Given the description of an element on the screen output the (x, y) to click on. 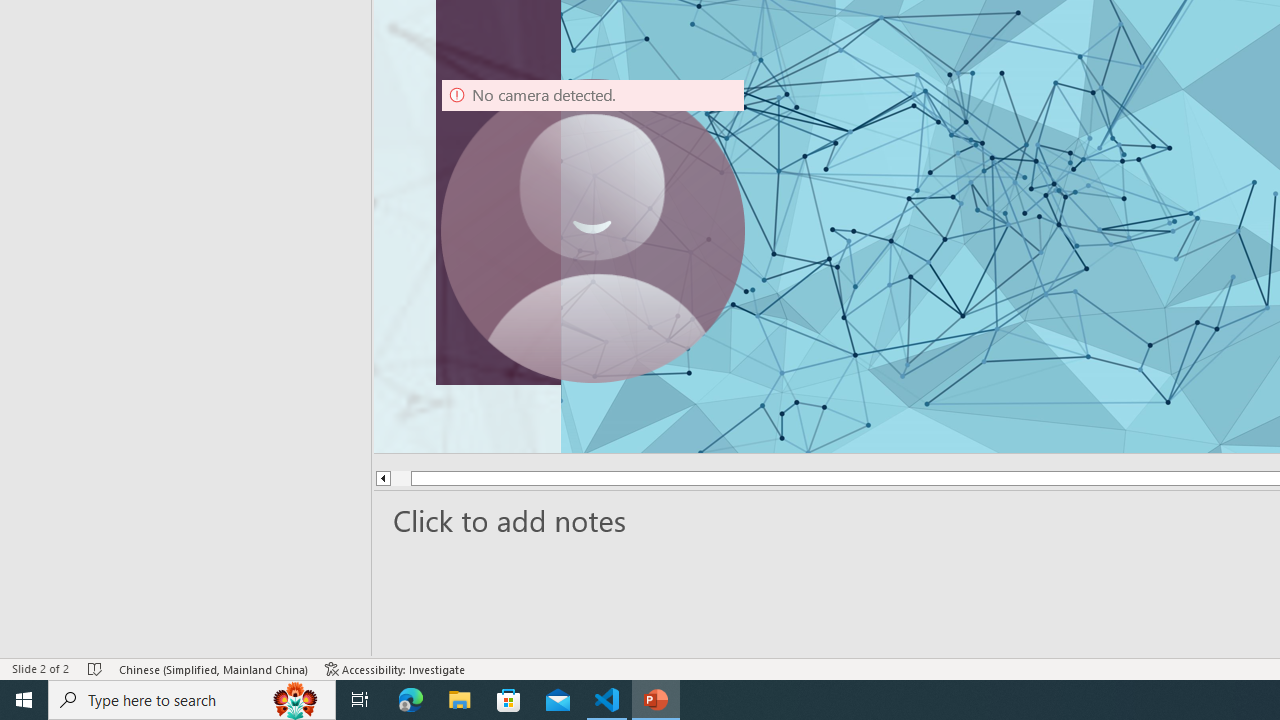
Camera 9, No camera detected. (593, 230)
